Given the description of an element on the screen output the (x, y) to click on. 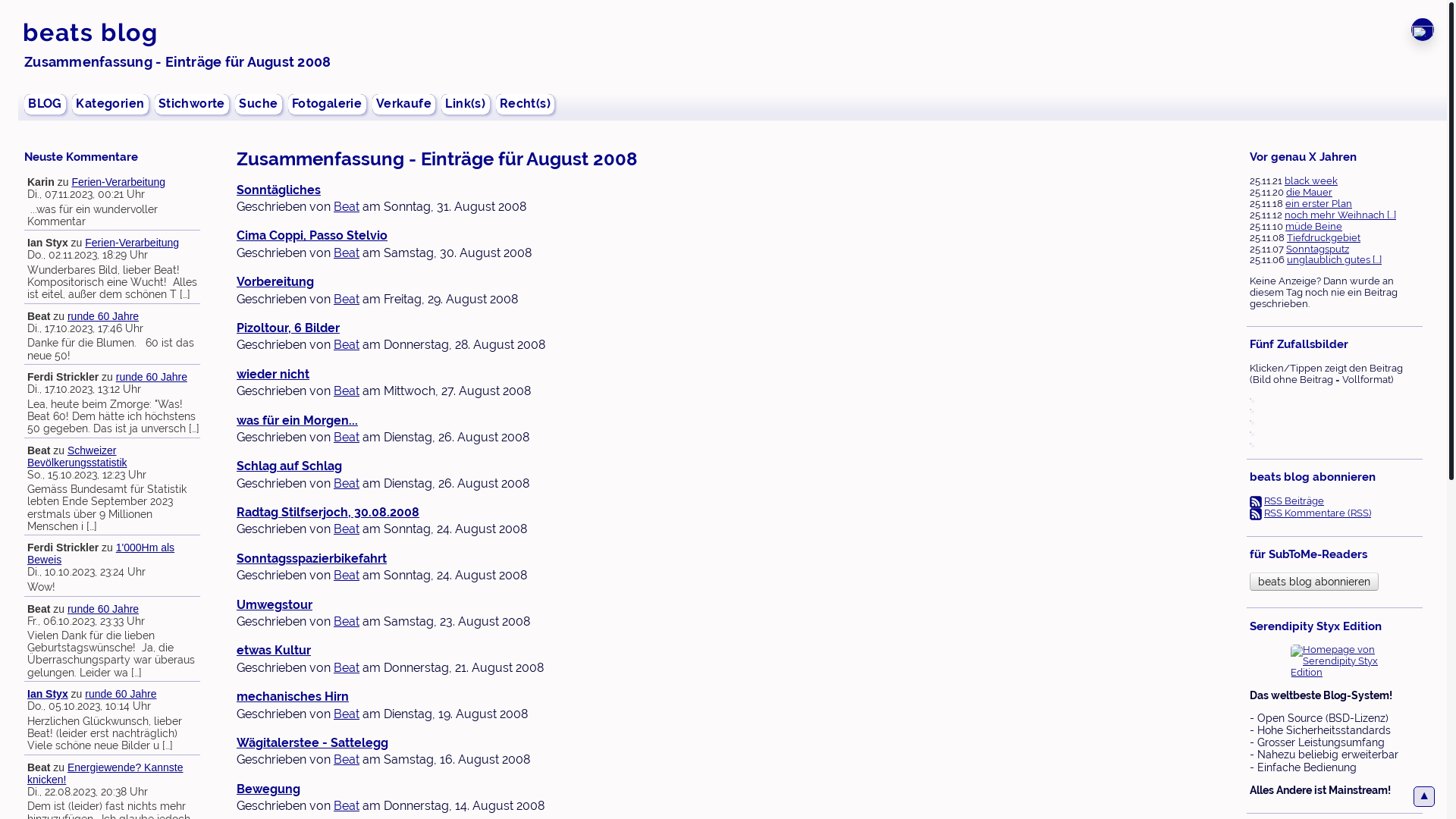
Beat Element type: text (346, 713)
Homepage von Serendipity Styx Edition Element type: hover (1335, 661)
Fotogalerie Element type: text (327, 103)
Umwegstour Element type: text (274, 604)
RSS Kommentare (RSS) Element type: text (1317, 512)
Ian Styx Element type: text (47, 693)
Theme: Dark (Browser preferences|Session override) Element type: hover (1422, 29)
macht Spass! Element type: hover (1250, 400)
Pizoltour, 6 Bilder Element type: text (287, 327)
Radtag Stilfserjoch, 30.08.2008 Element type: text (327, 512)
Kategorien Element type: text (110, 103)
Cima Coppi, Passo Stelvio Element type: text (311, 235)
Beat Element type: text (346, 528)
Bewegung Element type: text (268, 788)
Beat Element type: text (346, 805)
runde 60 Jahre Element type: text (102, 316)
runde 60 Jahre Element type: text (102, 608)
Vorbereitung Element type: text (274, 281)
Beat Element type: text (346, 252)
Tiefdruckgebiet Element type: text (1323, 237)
noch mehr Weihnach [...] Element type: text (1340, 214)
1'000Hm als Beweis Element type: text (100, 553)
Ferien-Verarbeitung Element type: text (131, 242)
Energiewende? Kannste knicken! Element type: text (105, 773)
Recht(s) Element type: text (525, 103)
Sonntagsspazierbikefahrt Element type: text (311, 558)
Beat Element type: text (346, 621)
Suche Element type: text (258, 103)
black week Element type: text (1310, 180)
Schlag auf Schlag Element type: text (289, 465)
ein erster Plan Element type: text (1318, 203)
Ferien-Verarbeitung Element type: text (118, 181)
Beat Element type: text (346, 206)
mechanisches Hirn Element type: text (292, 696)
Traumbike - Liteville 301s Element type: hover (1250, 411)
die Mauer Element type: text (1309, 191)
Beat Element type: text (346, 483)
beats blog Element type: text (89, 32)
Beat Element type: text (346, 344)
Stichworte Element type: text (191, 103)
beats blog abonnieren Element type: text (1313, 581)
Beat Element type: text (346, 667)
BLOG Element type: text (44, 103)
unglaublich gutes [...] Element type: text (1333, 259)
runde 60 Jahre Element type: text (120, 693)
Link(s) Element type: text (465, 103)
Beat Element type: text (346, 759)
wieder nicht Element type: text (272, 374)
runde 60 Jahre Element type: text (151, 376)
etwas Kultur Element type: text (273, 650)
Samstagsbiken Element type: hover (1250, 423)
Beat Element type: text (346, 436)
Beat Element type: text (346, 574)
Beat Element type: text (346, 298)
Beat Element type: text (346, 390)
Sonntagsputz Element type: text (1317, 248)
Verkaufe Element type: text (404, 103)
